Given the description of an element on the screen output the (x, y) to click on. 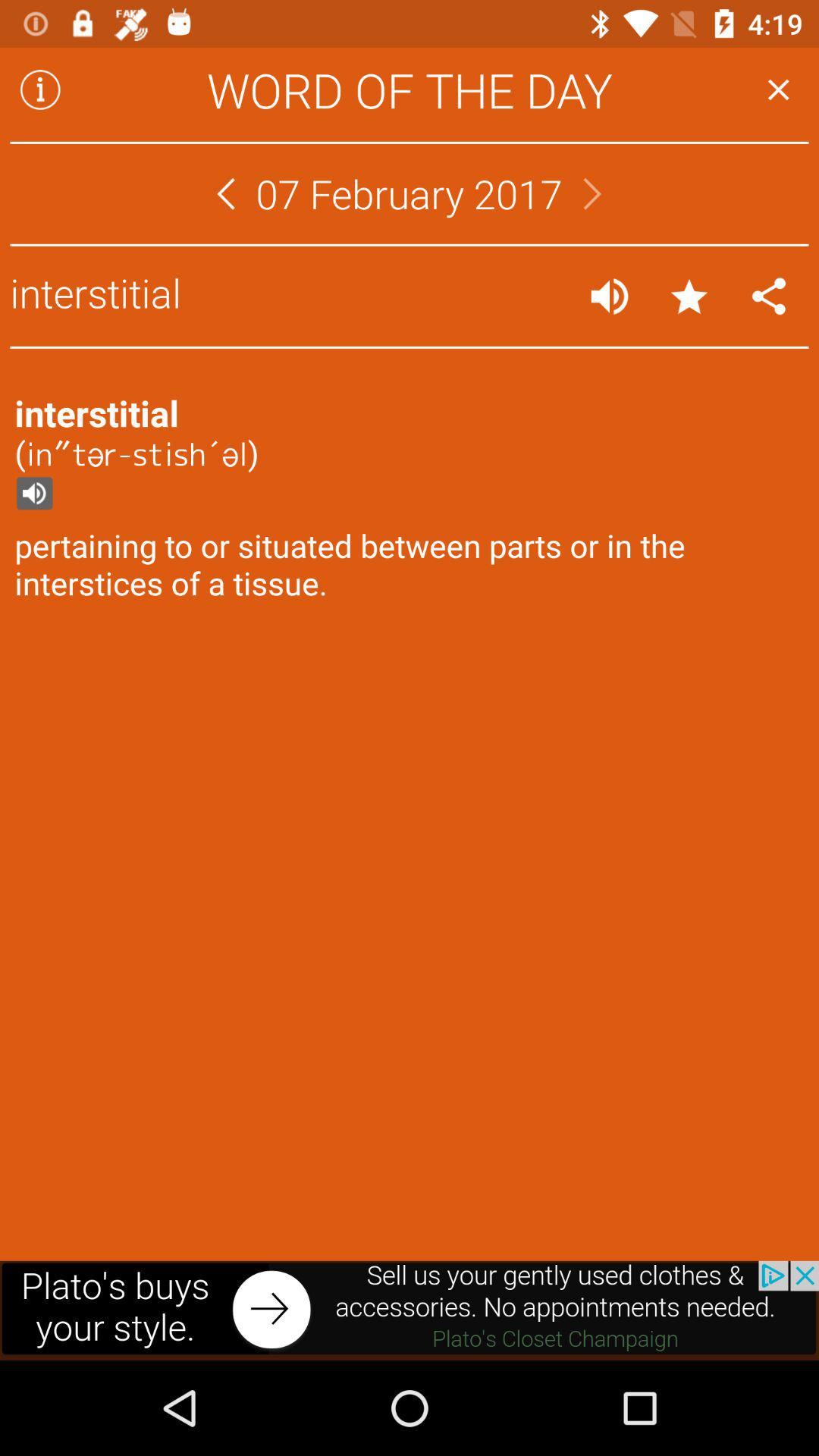
next date (592, 193)
